Given the description of an element on the screen output the (x, y) to click on. 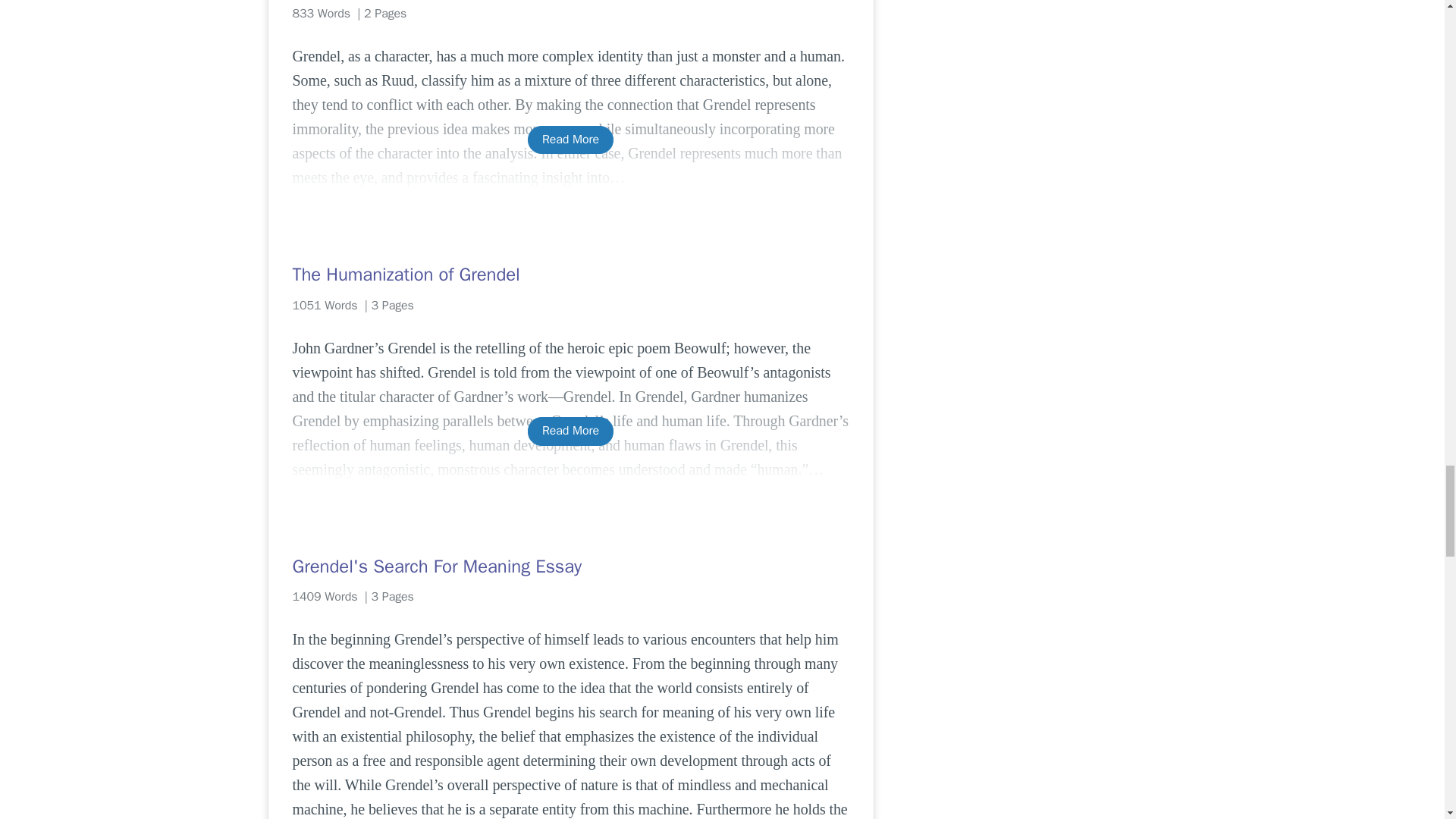
Grendel's Search For Meaning Essay (570, 566)
Read More (569, 139)
The Humanization of Grendel (570, 274)
Read More (569, 430)
